Given the description of an element on the screen output the (x, y) to click on. 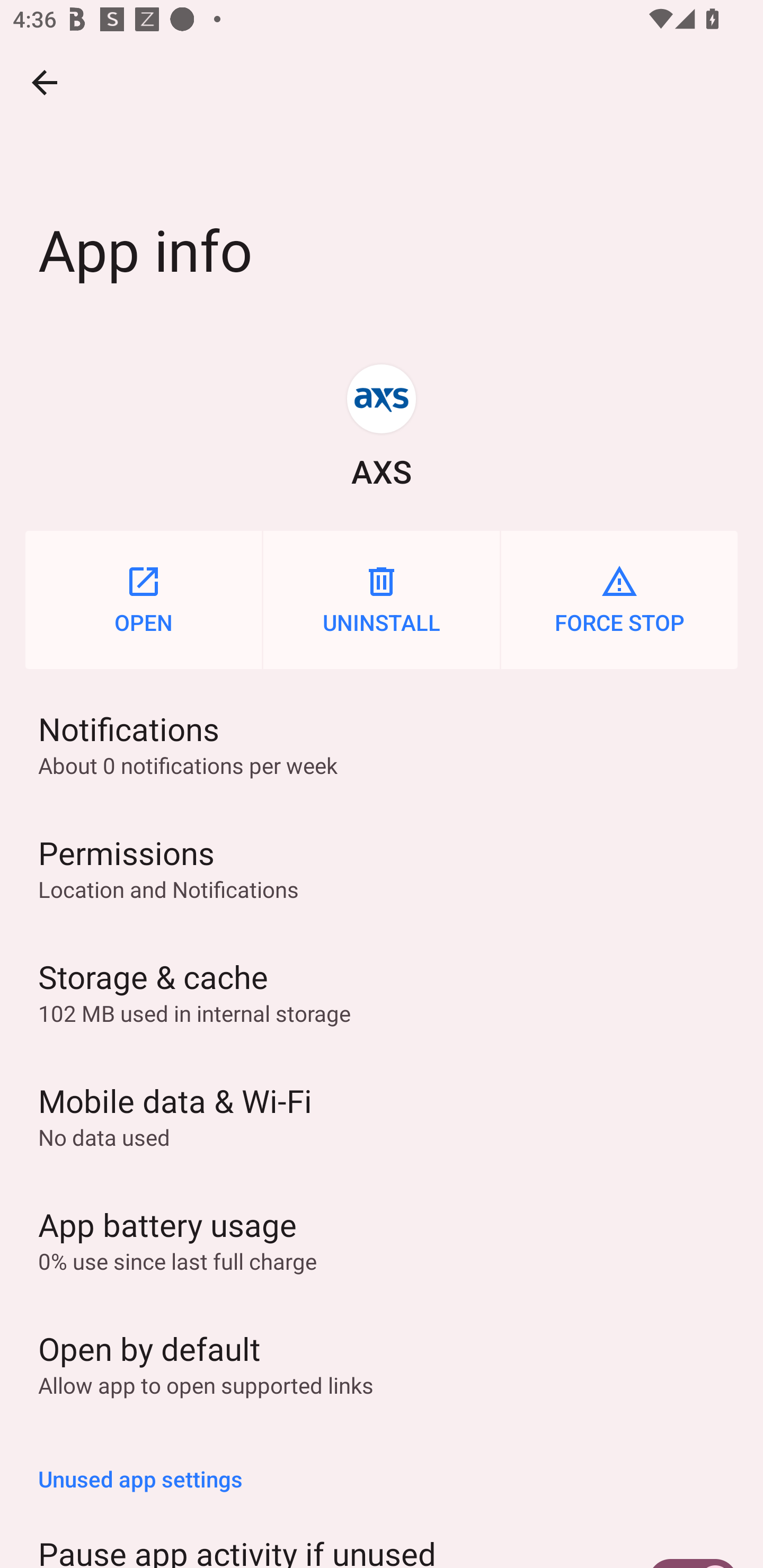
Navigate up (44, 82)
OPEN (143, 600)
UNINSTALL (381, 600)
FORCE STOP (619, 600)
Notifications About 0 notifications per week (381, 743)
Permissions Location and Notifications (381, 867)
Storage & cache 102 MB used in internal storage (381, 991)
Mobile data & Wi‑Fi No data used (381, 1115)
App battery usage 0% use since last full charge (381, 1239)
Open by default Allow app to open supported links (381, 1363)
